Given the description of an element on the screen output the (x, y) to click on. 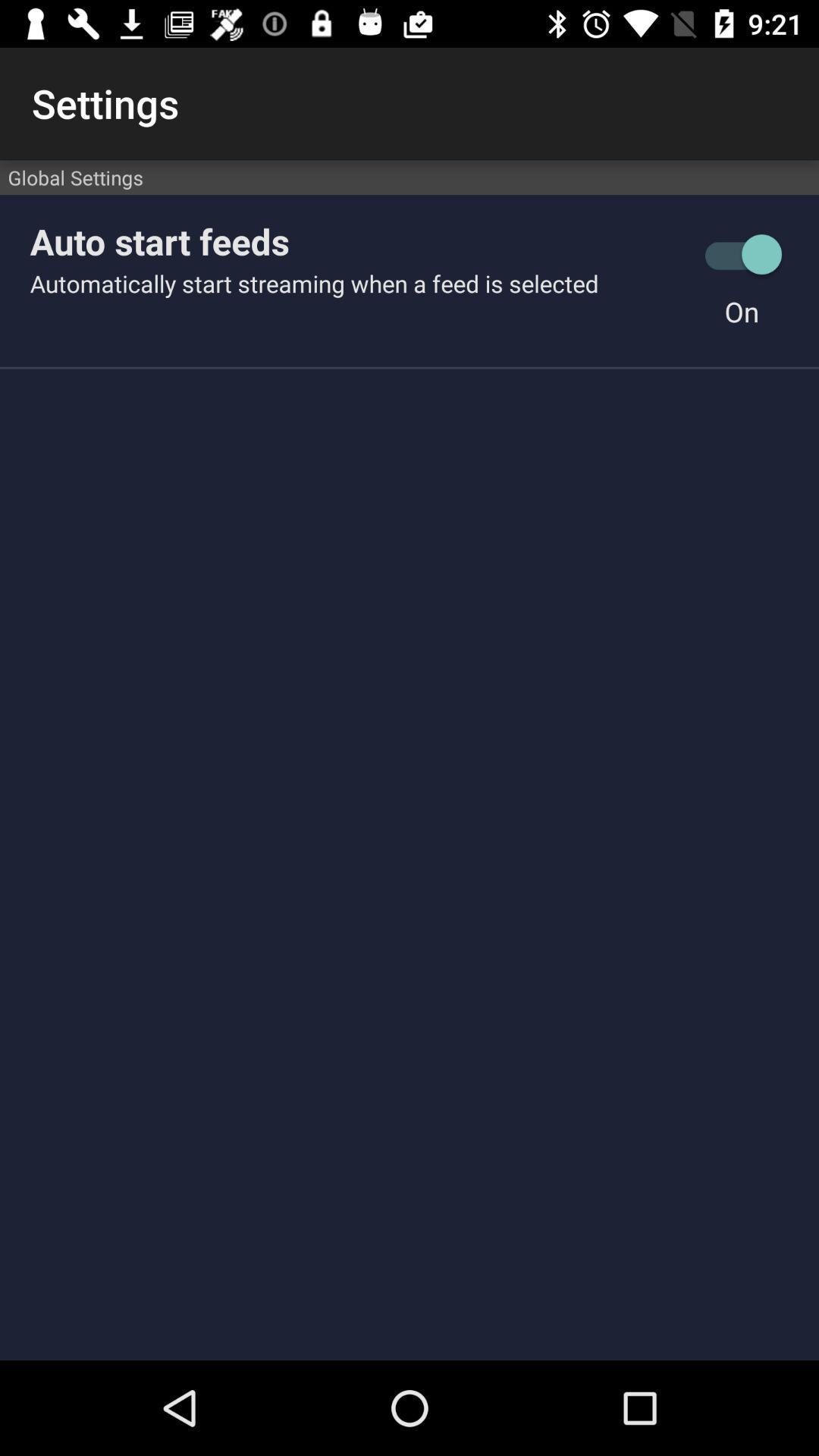
jump until automatically start streaming icon (357, 283)
